Given the description of an element on the screen output the (x, y) to click on. 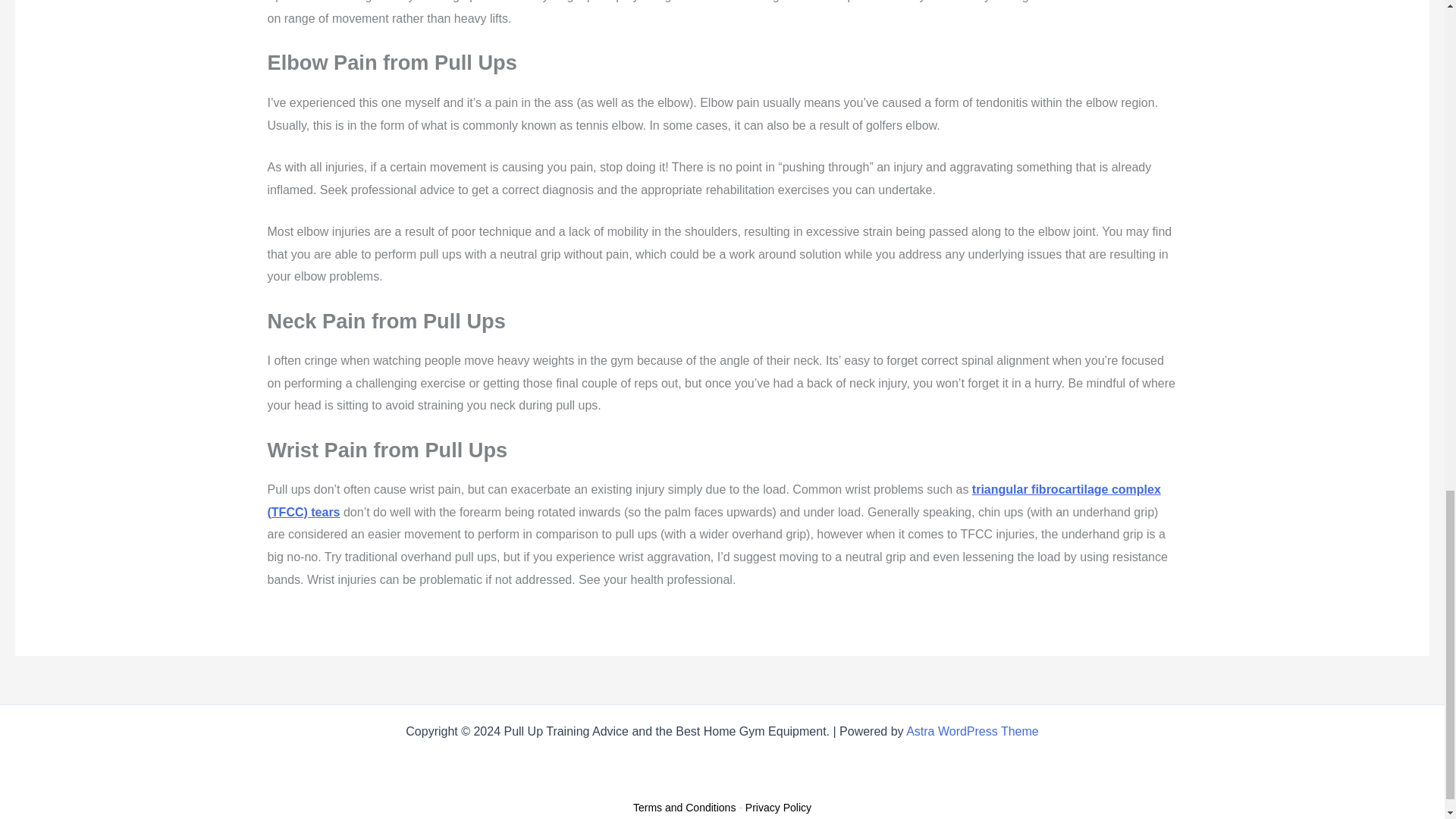
Astra WordPress Theme (972, 730)
Terms and Conditions (684, 807)
Privacy Policy (777, 807)
